Given the description of an element on the screen output the (x, y) to click on. 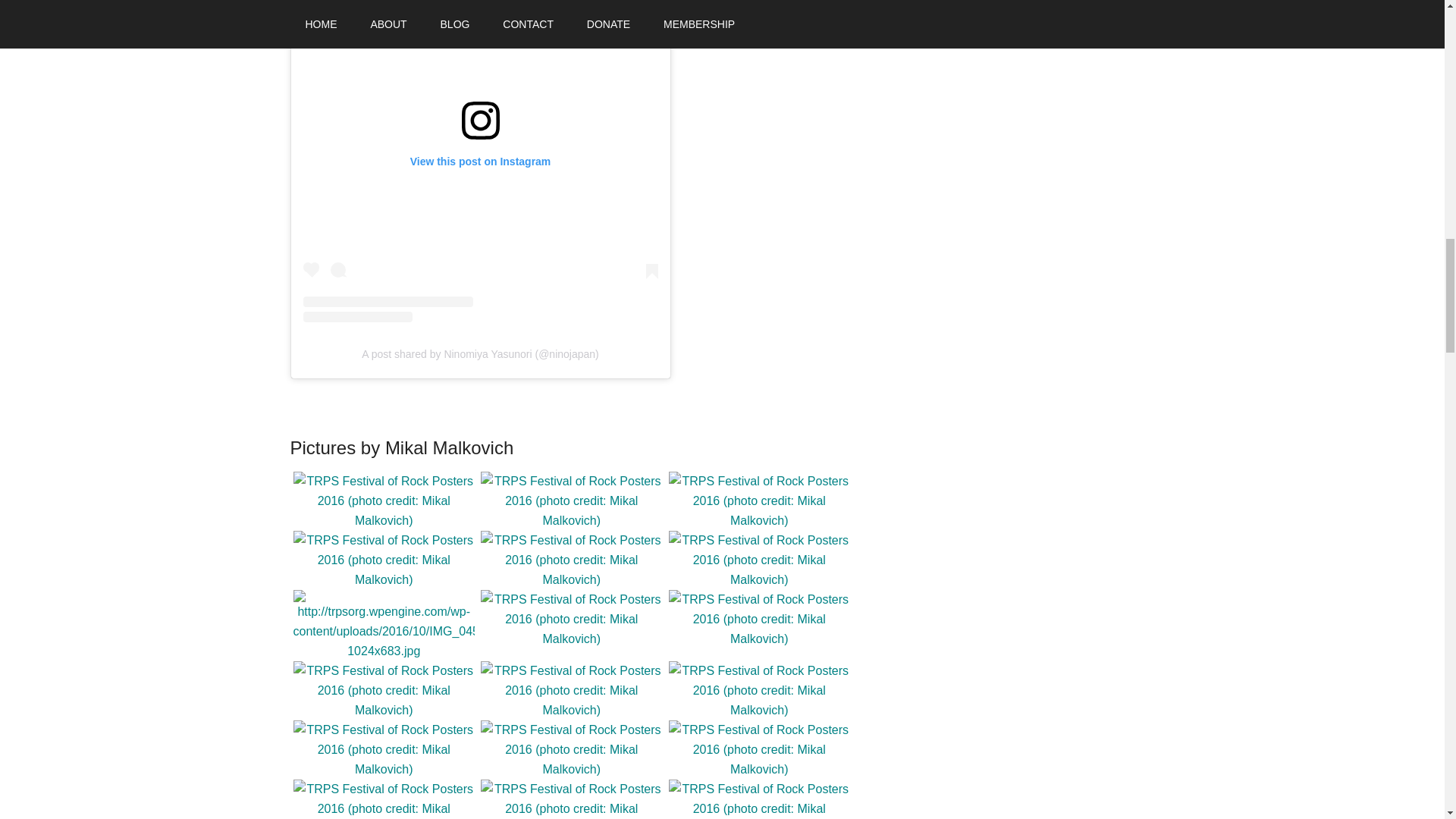
View this post on Instagram (480, 161)
